Given the description of an element on the screen output the (x, y) to click on. 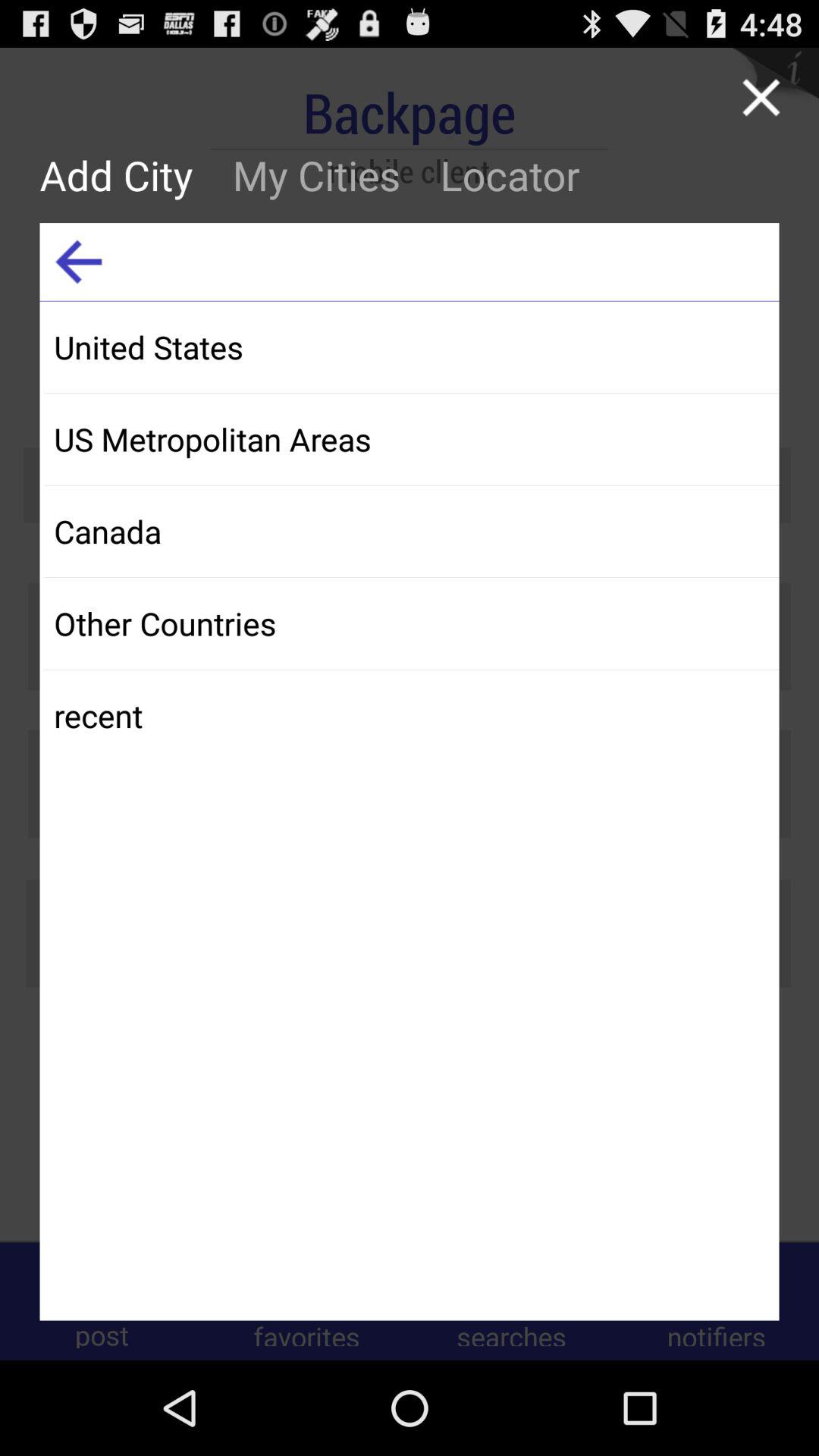
open the canada icon (411, 530)
